Given the description of an element on the screen output the (x, y) to click on. 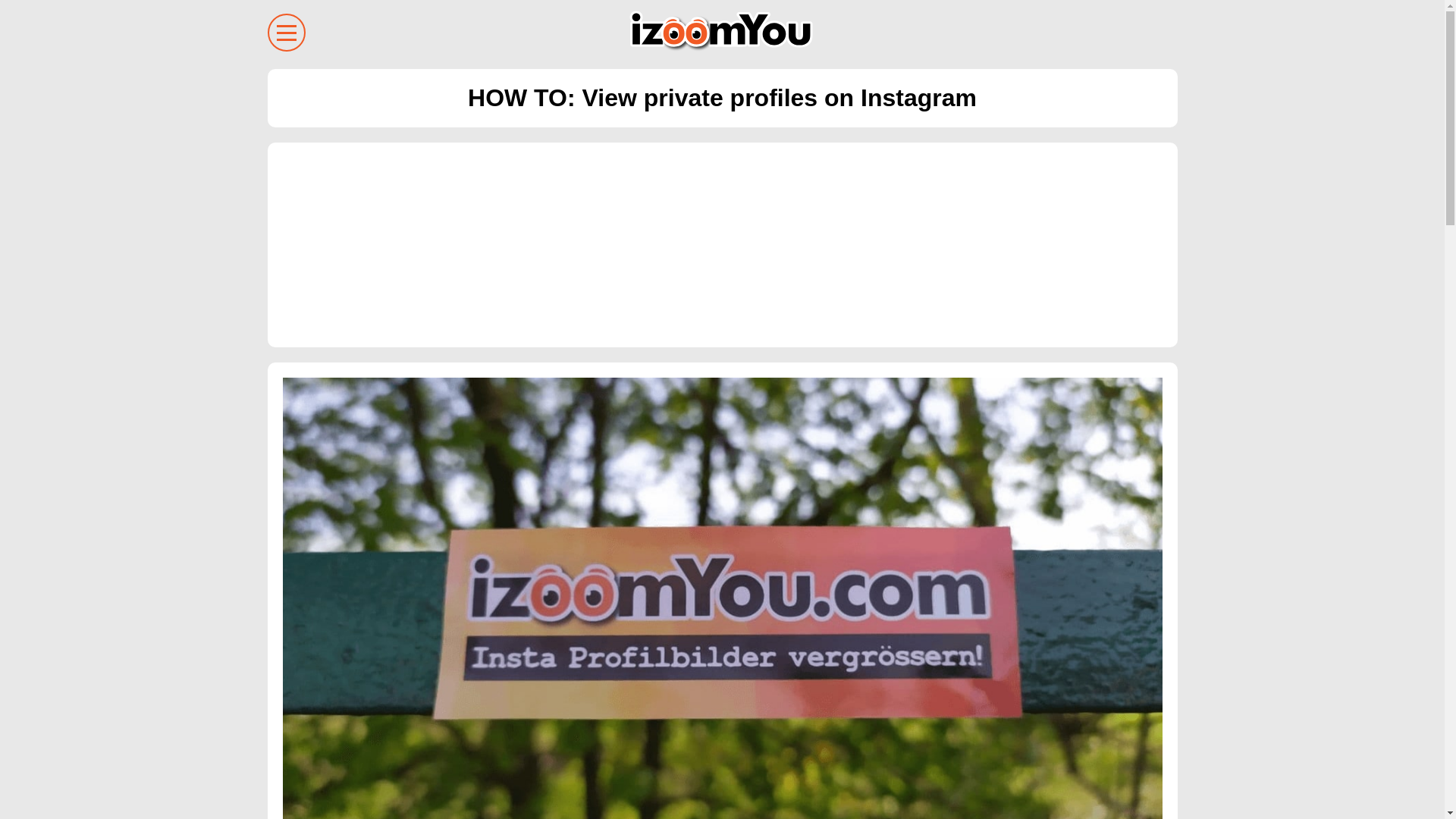
izoomYou (721, 29)
